Given the description of an element on the screen output the (x, y) to click on. 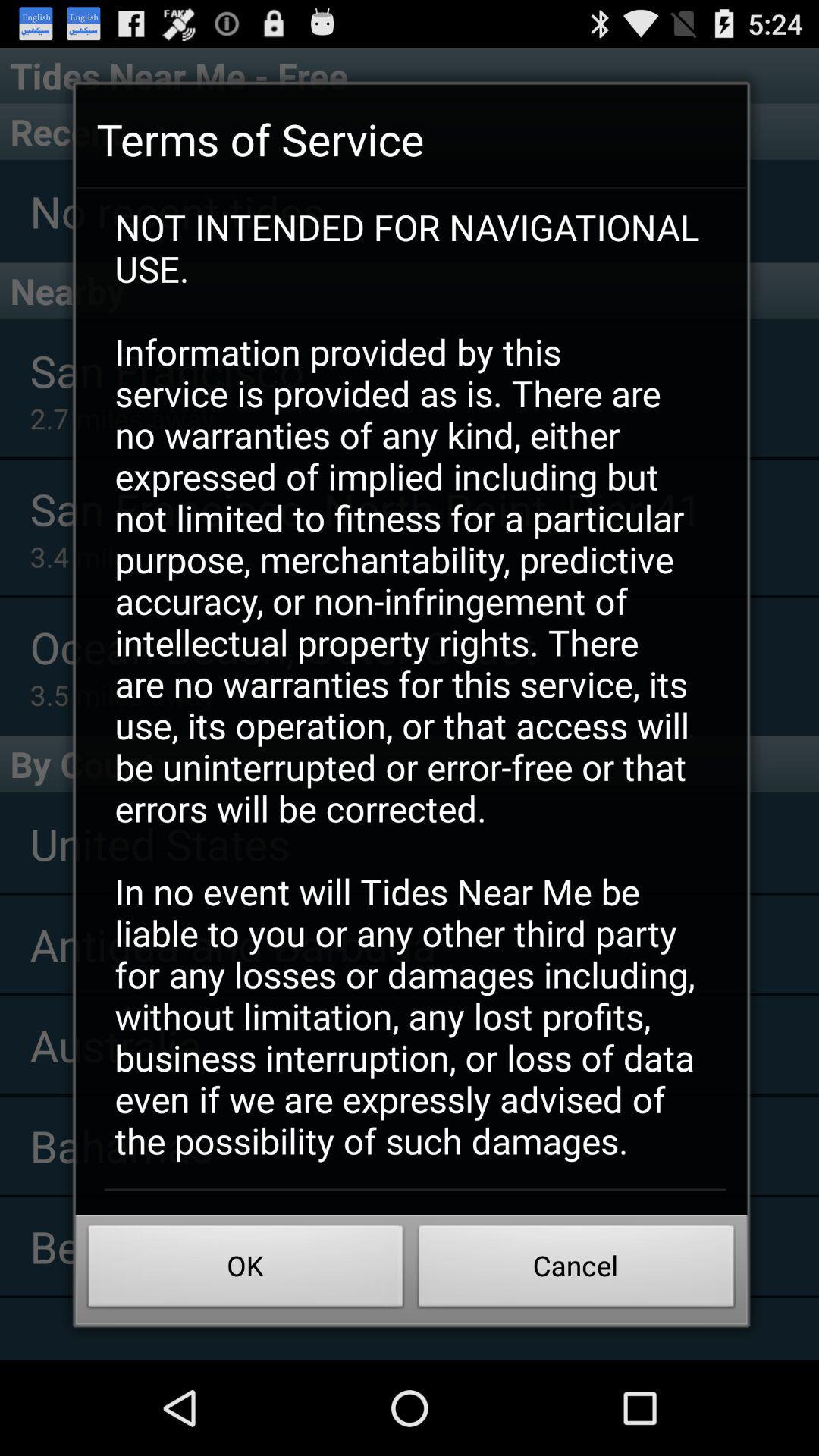
turn on the app below the not intended for item (576, 1270)
